Given the description of an element on the screen output the (x, y) to click on. 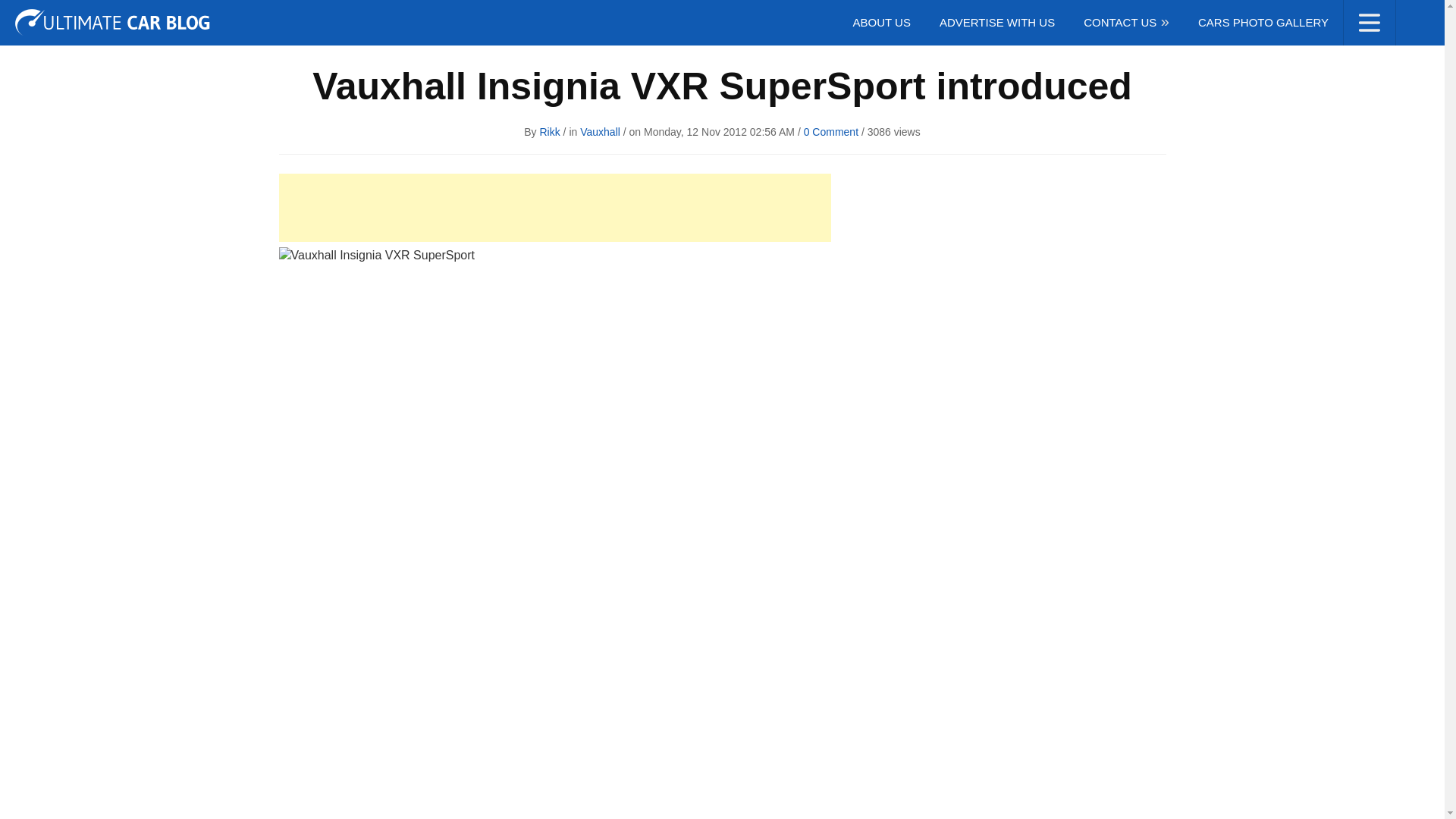
instagram (1362, 16)
ABOUT US (881, 22)
0 Comment (831, 132)
ADVERTISE WITH US (996, 22)
CONTACT US (1125, 22)
Vauxhall (599, 132)
gplus (1418, 16)
Rikk (550, 132)
CARS PHOTO GALLERY (1262, 22)
Tuning (39, 16)
